Given the description of an element on the screen output the (x, y) to click on. 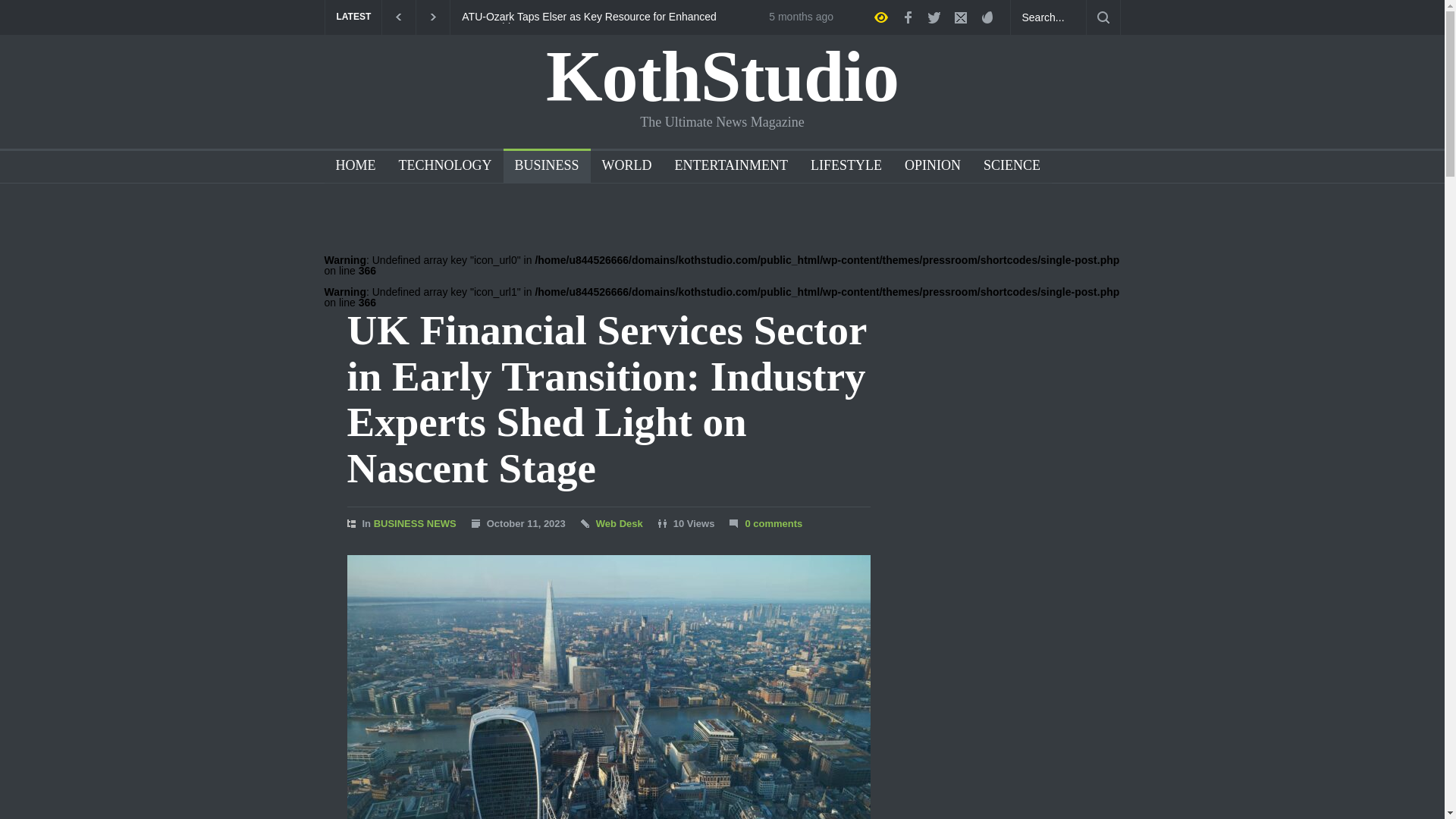
KothStudio (722, 76)
ENTERTAINMENT (725, 166)
Web Desk (619, 523)
Web Desk (619, 523)
0 comments (773, 523)
